Given the description of an element on the screen output the (x, y) to click on. 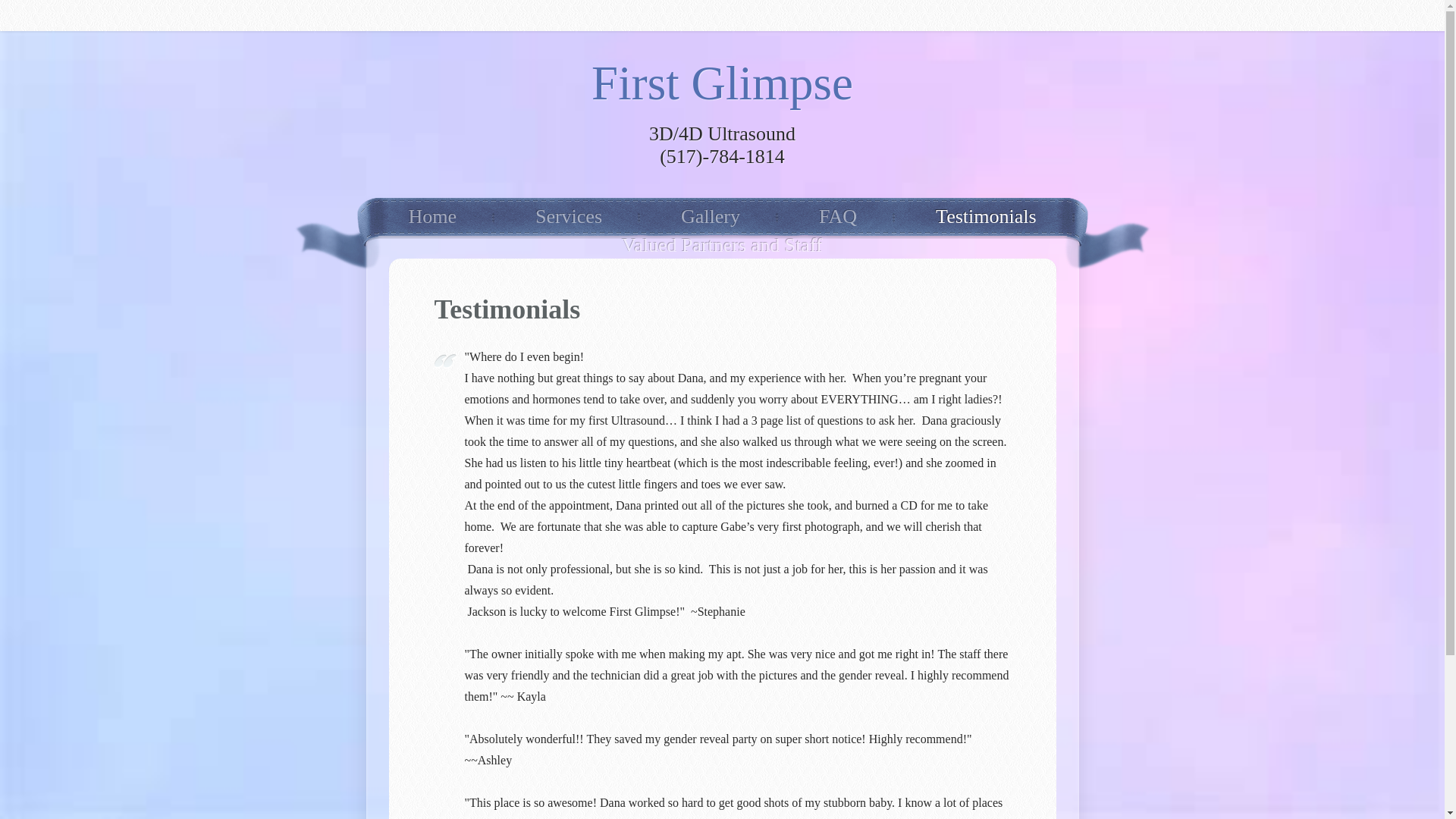
Gallery Element type: text (710, 219)
Testimonials Element type: text (985, 219)
FAQ Element type: text (837, 219)
Services Element type: text (568, 219)
Home Element type: text (431, 219)
Valued Partners and Staff Element type: text (721, 248)
First Glimpse Element type: text (722, 86)
